Given the description of an element on the screen output the (x, y) to click on. 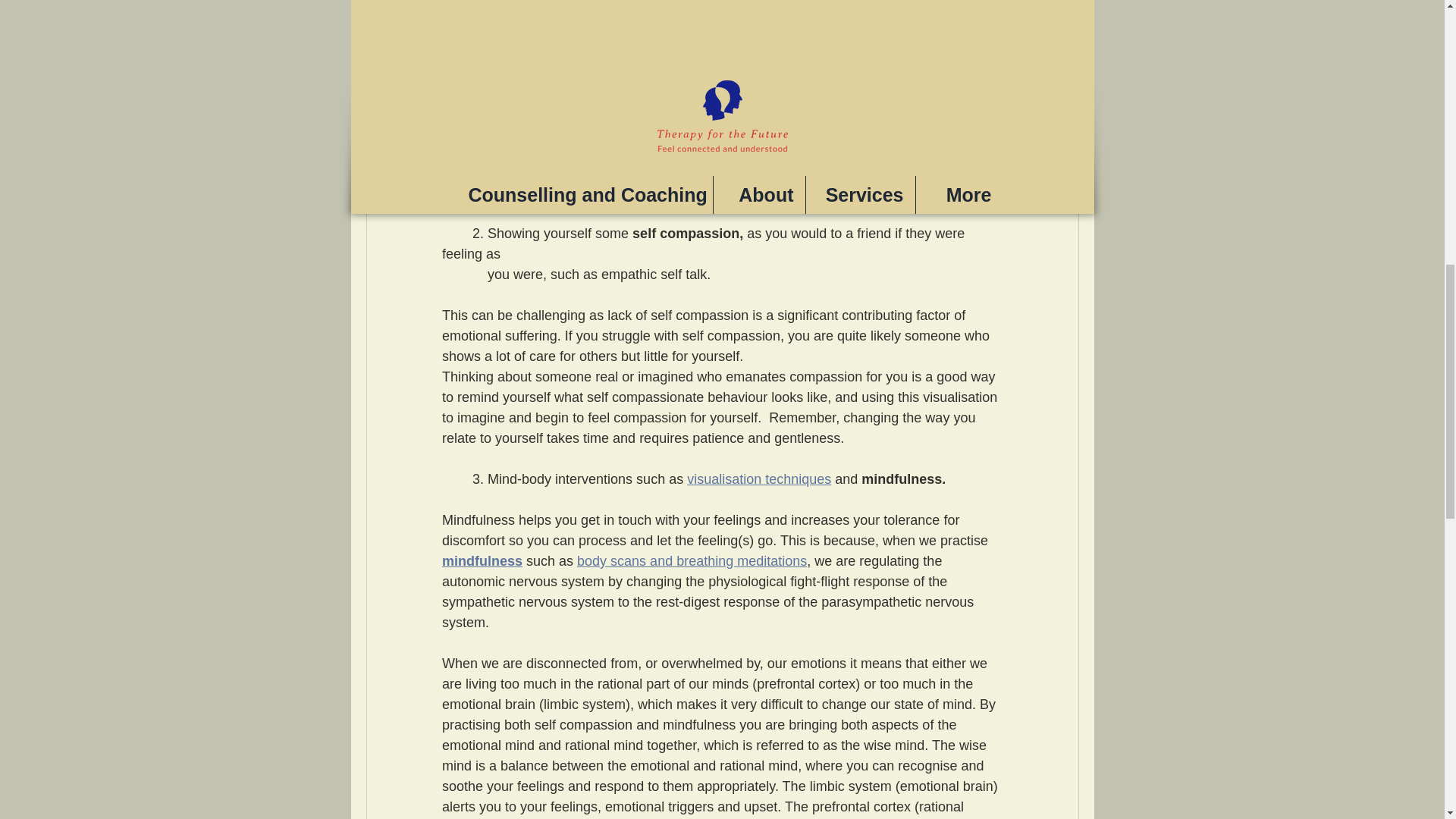
feelings wheel (667, 192)
body scans and breathing meditations (691, 560)
mindfulness (481, 560)
visualisation techniques (759, 478)
